Given the description of an element on the screen output the (x, y) to click on. 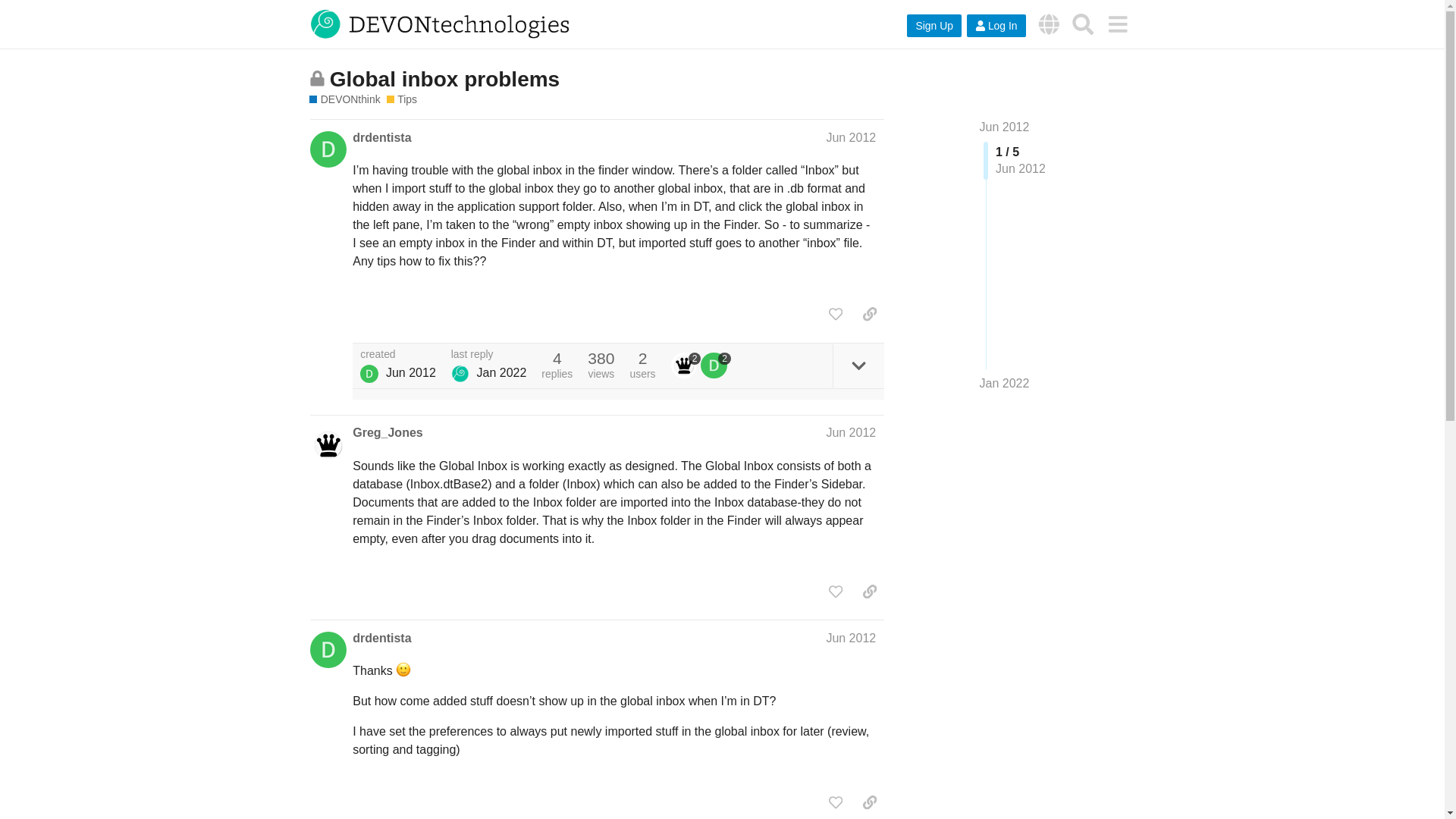
Jun 2012 (1004, 126)
last reply (489, 354)
copy a link to this post to clipboard (869, 313)
expand topic details (857, 365)
DEVONtechnologies (1048, 23)
Search (1082, 23)
Jan 2022 (1004, 383)
Jump to the last post (1004, 382)
2 (686, 365)
DEVONthink (344, 99)
drdentista (381, 137)
Global inbox problems (444, 78)
General discussion about DEVONthink and its ecosystem (401, 99)
Jun 2012 (850, 637)
